Given the description of an element on the screen output the (x, y) to click on. 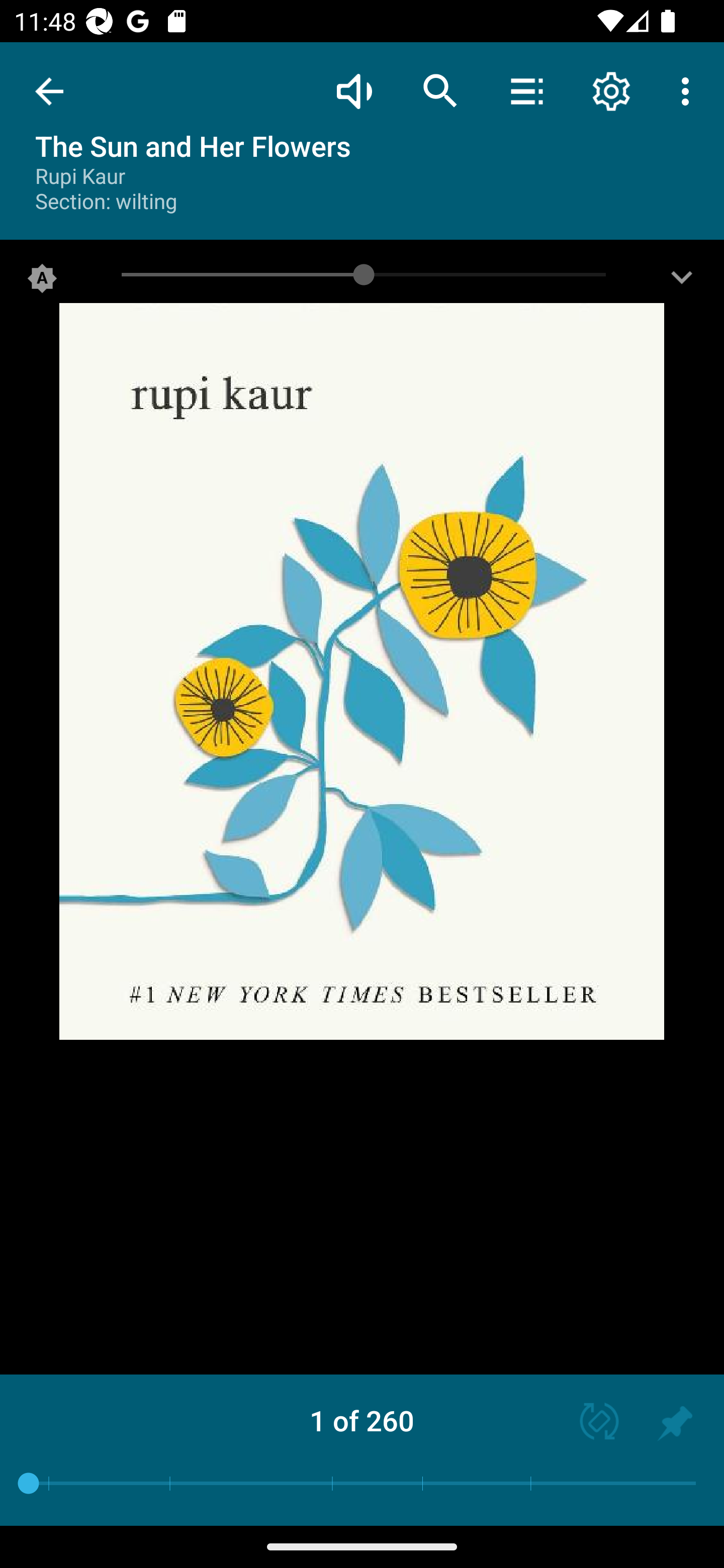
Exit reading (49, 91)
Read aloud (354, 90)
Text search (440, 90)
Contents / Bookmarks / Quotes (526, 90)
Reading settings (611, 90)
More options (688, 90)
Selected screen brightness (42, 281)
Screen brightness settings (681, 281)
1 of 260 (361, 1420)
Screen orientation (590, 1423)
Add to history (674, 1423)
